Given the description of an element on the screen output the (x, y) to click on. 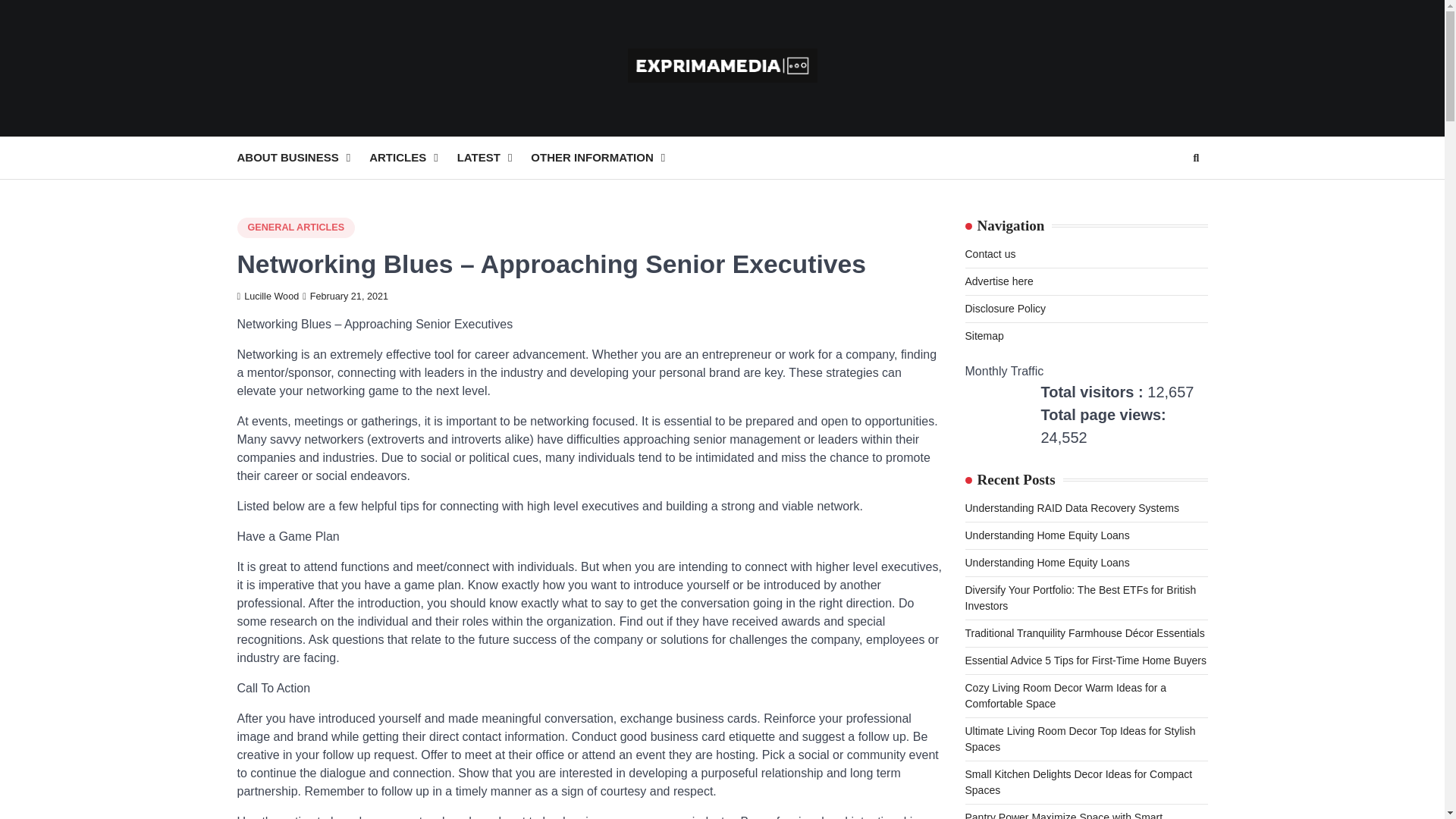
February 21, 2021 (345, 296)
ARTICLES (413, 158)
ABOUT BUSINESS (302, 158)
OTHER INFORMATION (607, 158)
Understanding RAID Data Recovery Systems (1070, 508)
Understanding Home Equity Loans (1046, 535)
Contact us (988, 254)
Advertise here (997, 281)
GENERAL ARTICLES (295, 227)
Search (1196, 158)
